Given the description of an element on the screen output the (x, y) to click on. 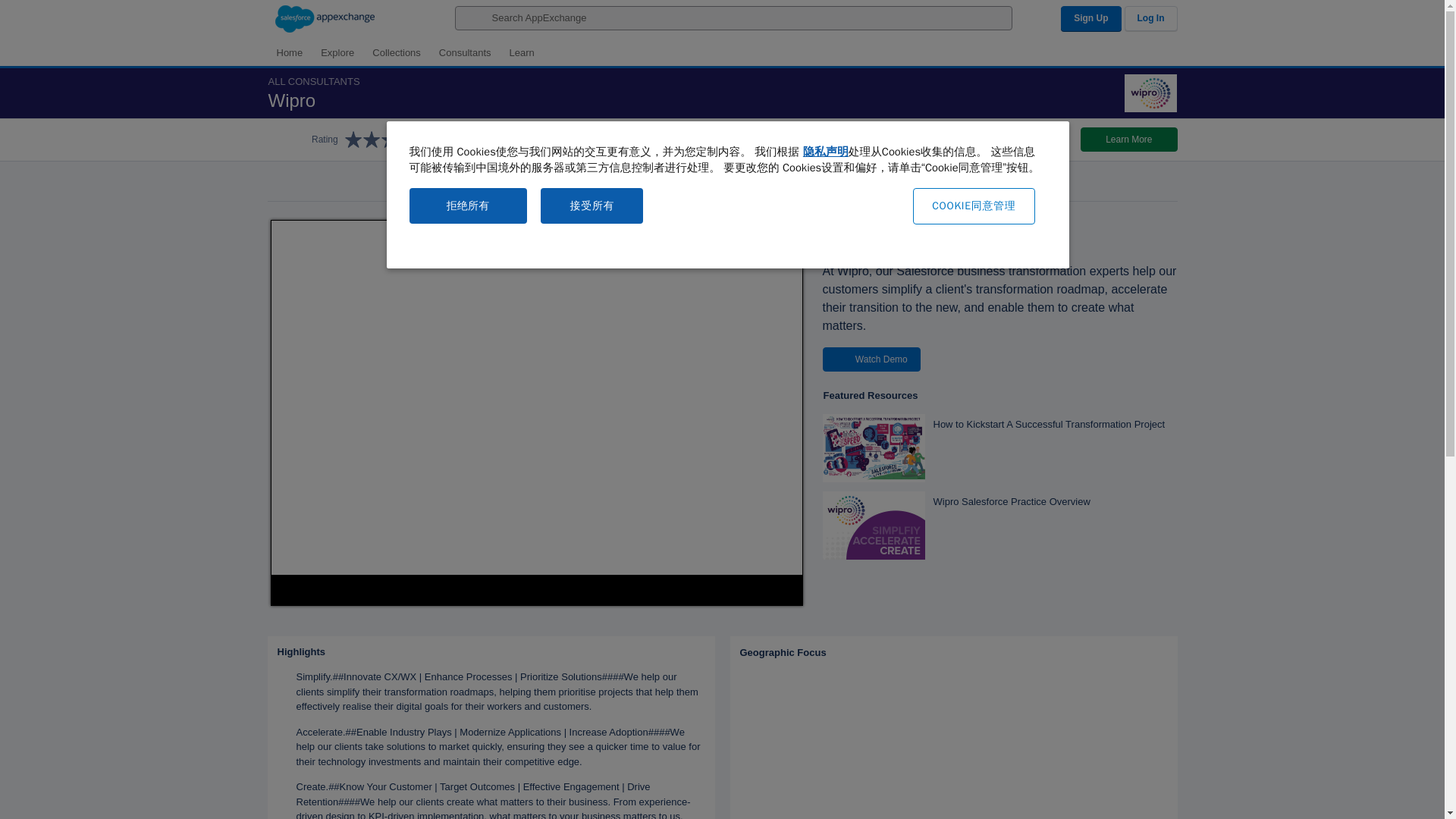
Overview (641, 185)
Search AppExchange (733, 17)
Home (288, 52)
Collections (395, 52)
Map (952, 742)
Learn More (1128, 139)
ALL CONSULTANTS (316, 81)
Log In (1150, 18)
How to Kickstart A Successful Transformation Project (999, 448)
Wipro Salesforce Practice Overview (999, 525)
